Given the description of an element on the screen output the (x, y) to click on. 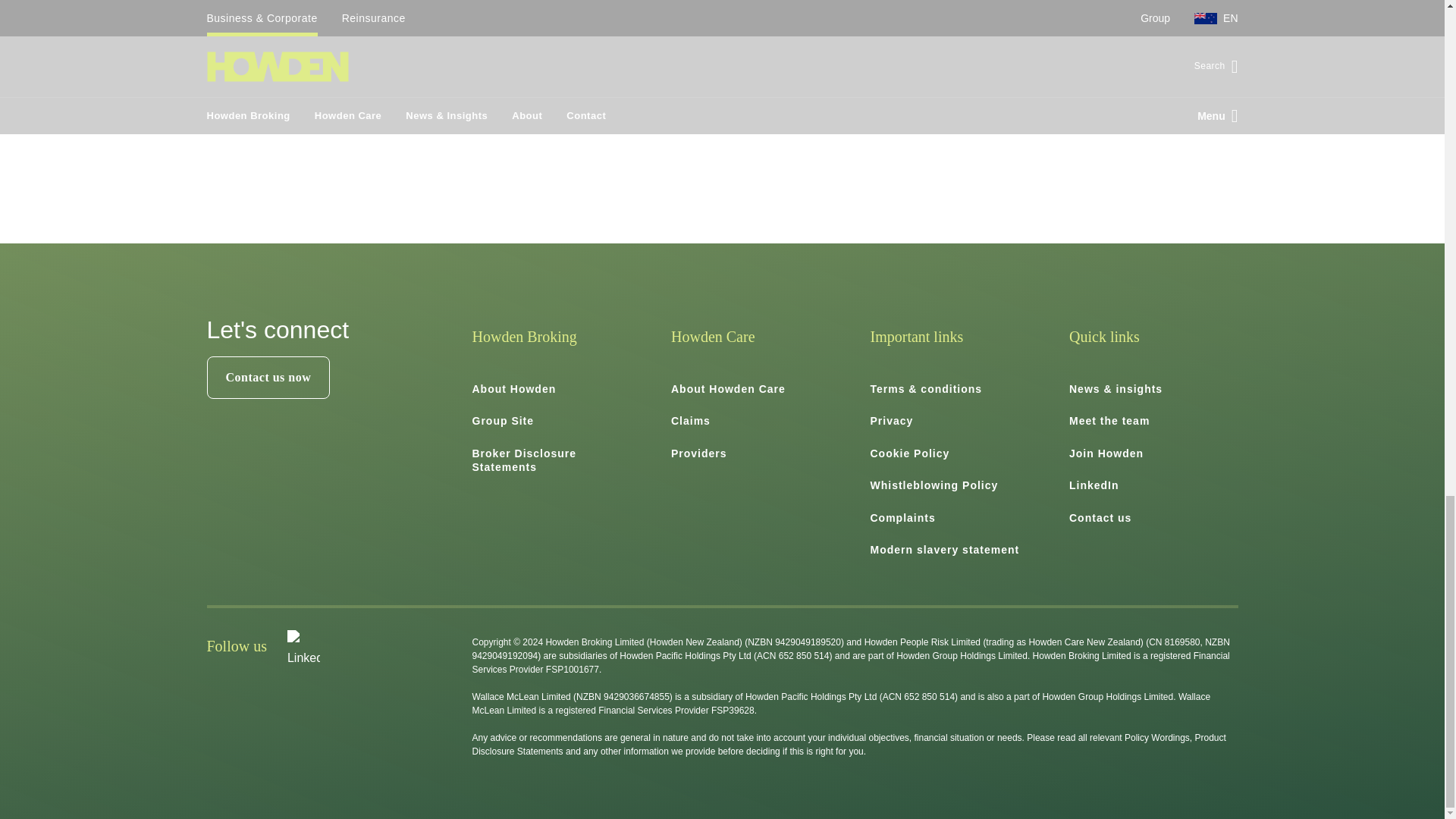
Complaints (903, 517)
Cookie Policy (910, 453)
Claims (690, 420)
Contact us (1099, 517)
Meet the team (1109, 420)
Join Howden (1105, 453)
Providers (698, 453)
Broker Disclosure Statements (523, 460)
About Howden Care (728, 388)
Group Site (502, 420)
Privacy (892, 420)
Modern slavery statement (945, 549)
LinkedIn (1093, 485)
Whistleblowing Policy (934, 485)
About Howden (513, 388)
